Given the description of an element on the screen output the (x, y) to click on. 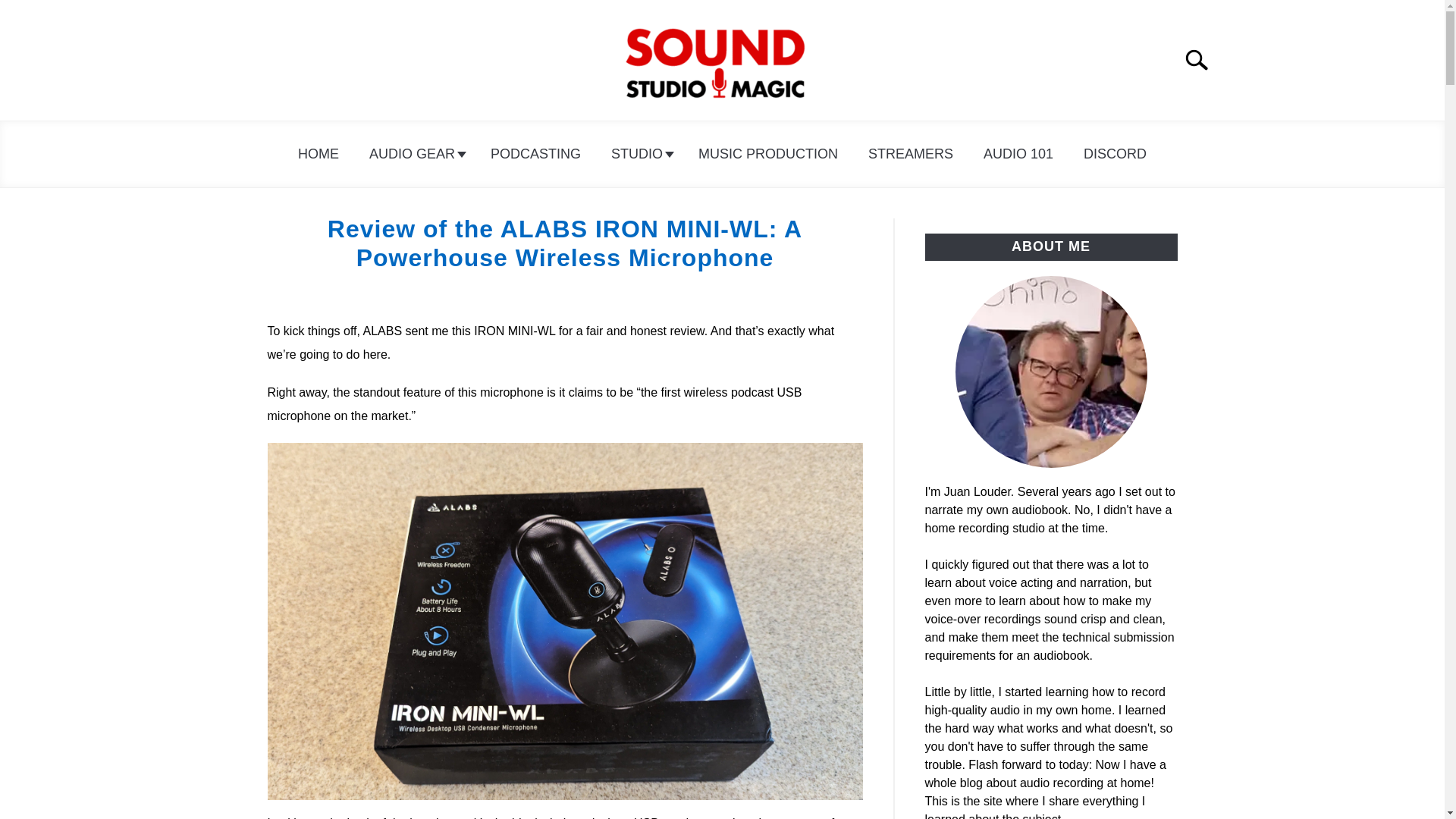
Search (1203, 59)
STUDIO (638, 153)
HOME (317, 153)
AUDIO 101 (1018, 153)
MUSIC PRODUCTION (767, 153)
AUDIO GEAR (414, 153)
DISCORD (1114, 153)
STREAMERS (910, 153)
PODCASTING (535, 153)
